Given the description of an element on the screen output the (x, y) to click on. 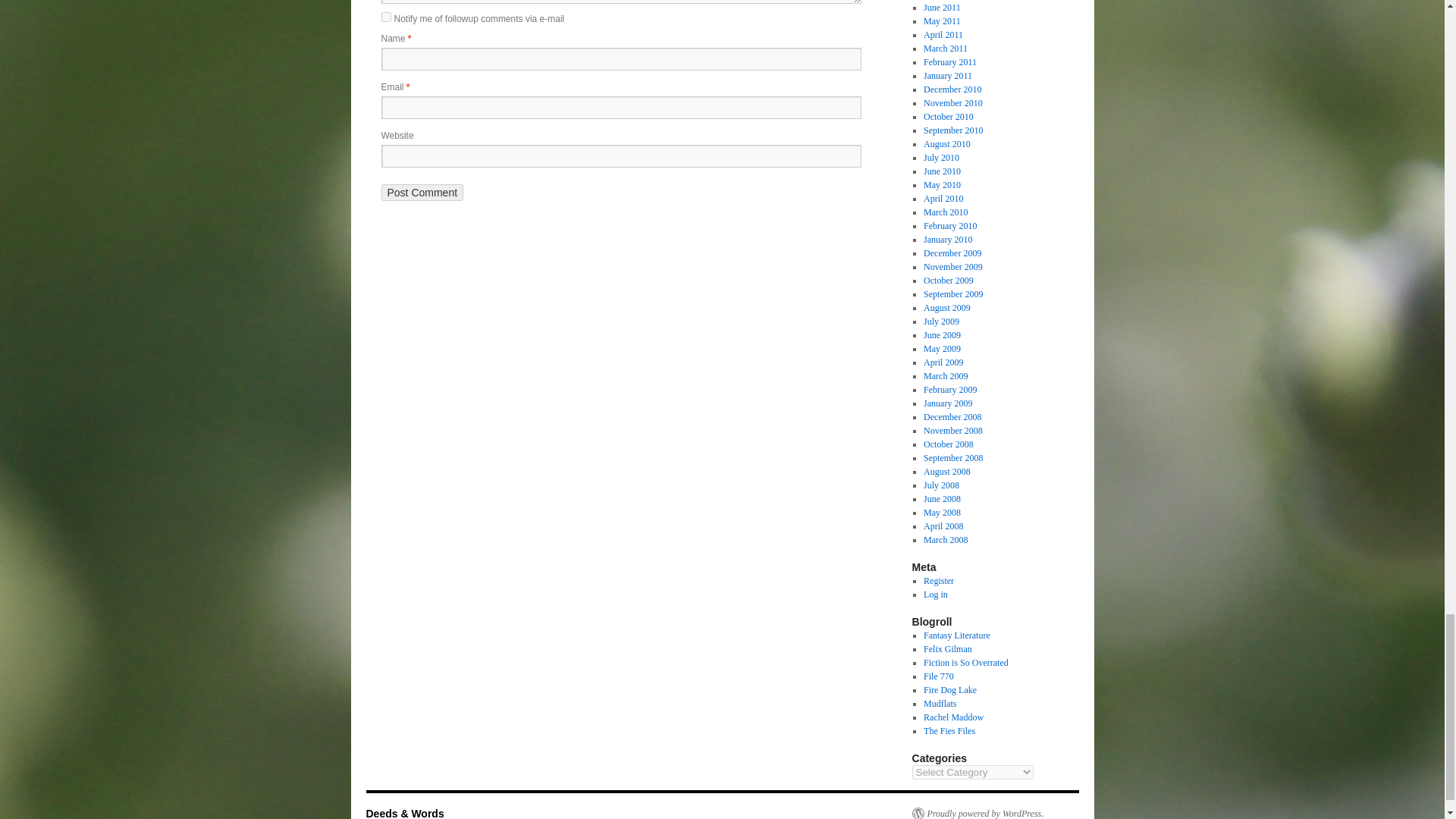
Smart (953, 716)
Interesting tidbits from an award winning cartoonist (949, 730)
Dry wit (947, 648)
Post Comment (421, 192)
Good book reviews (966, 662)
subscribe (385, 17)
Post Comment (421, 192)
Best Alaskan Entertainment Since Dana Stabenow (939, 703)
